Given the description of an element on the screen output the (x, y) to click on. 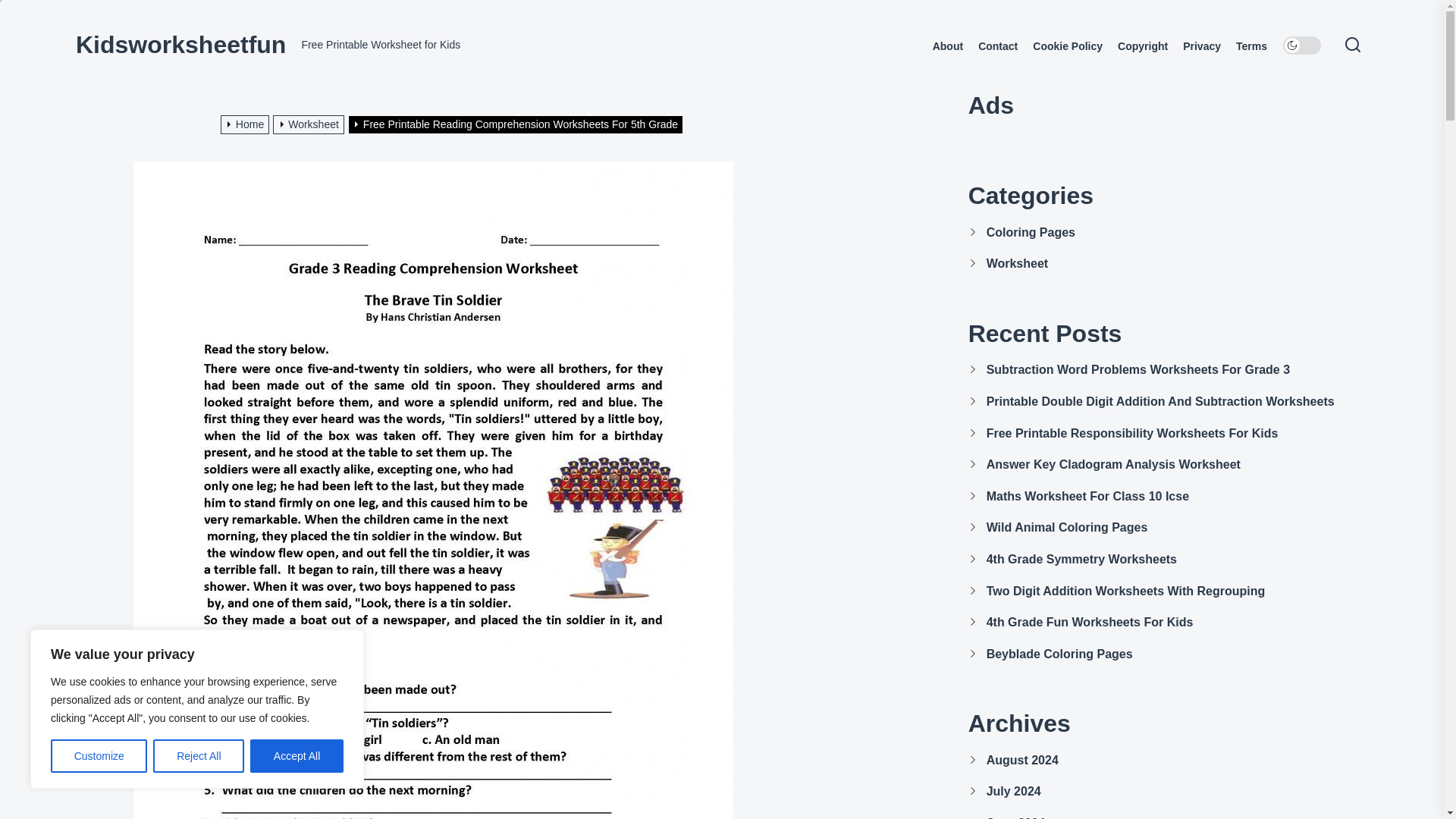
Cookie Policy (1067, 46)
Customize (98, 756)
About (947, 46)
Home (247, 123)
Privacy (1201, 46)
Accept All (296, 756)
Contact (997, 46)
Copyright (1142, 46)
Terms (1251, 46)
